Given the description of an element on the screen output the (x, y) to click on. 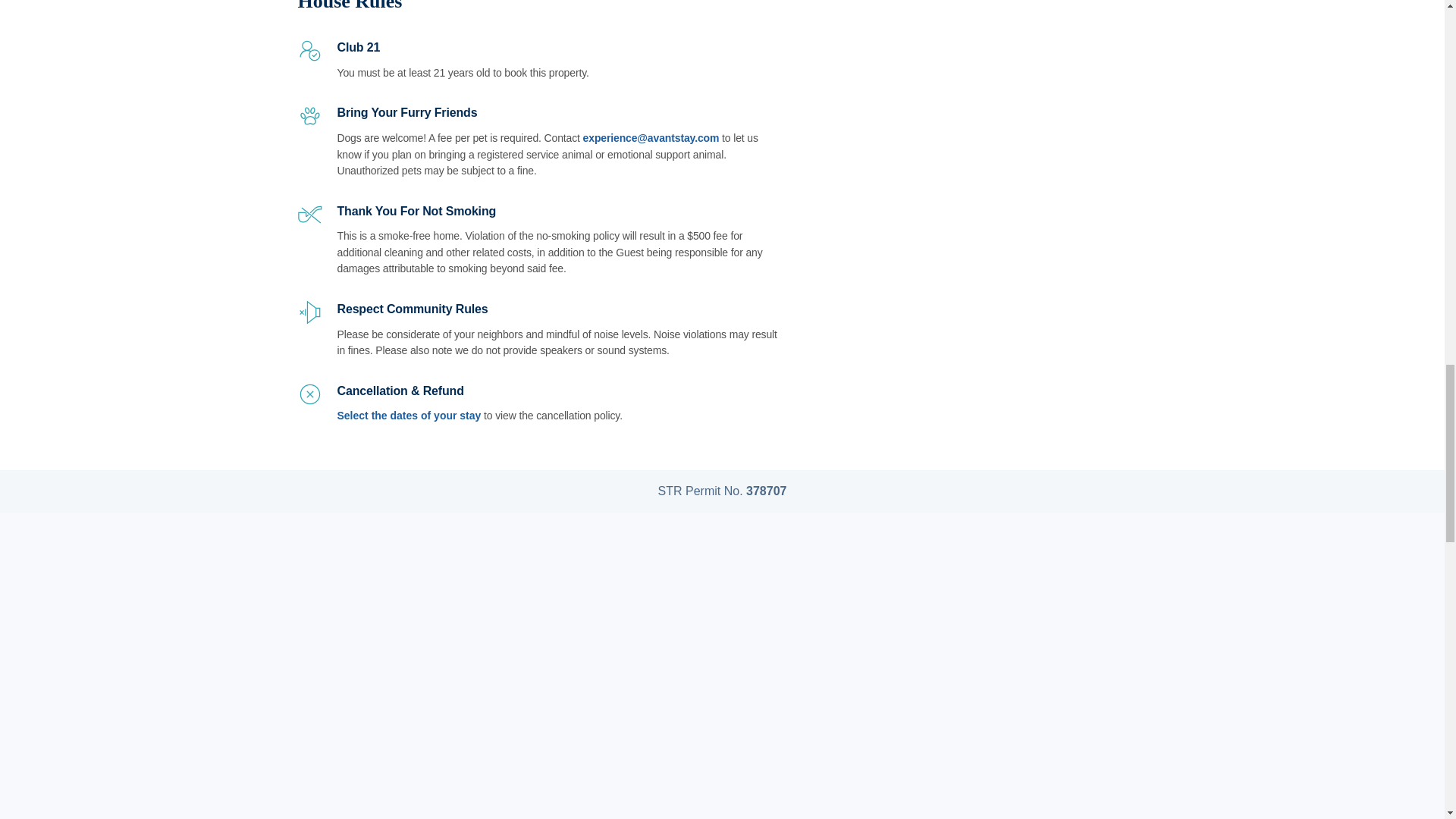
Select the dates of your stay (408, 416)
